Given the description of an element on the screen output the (x, y) to click on. 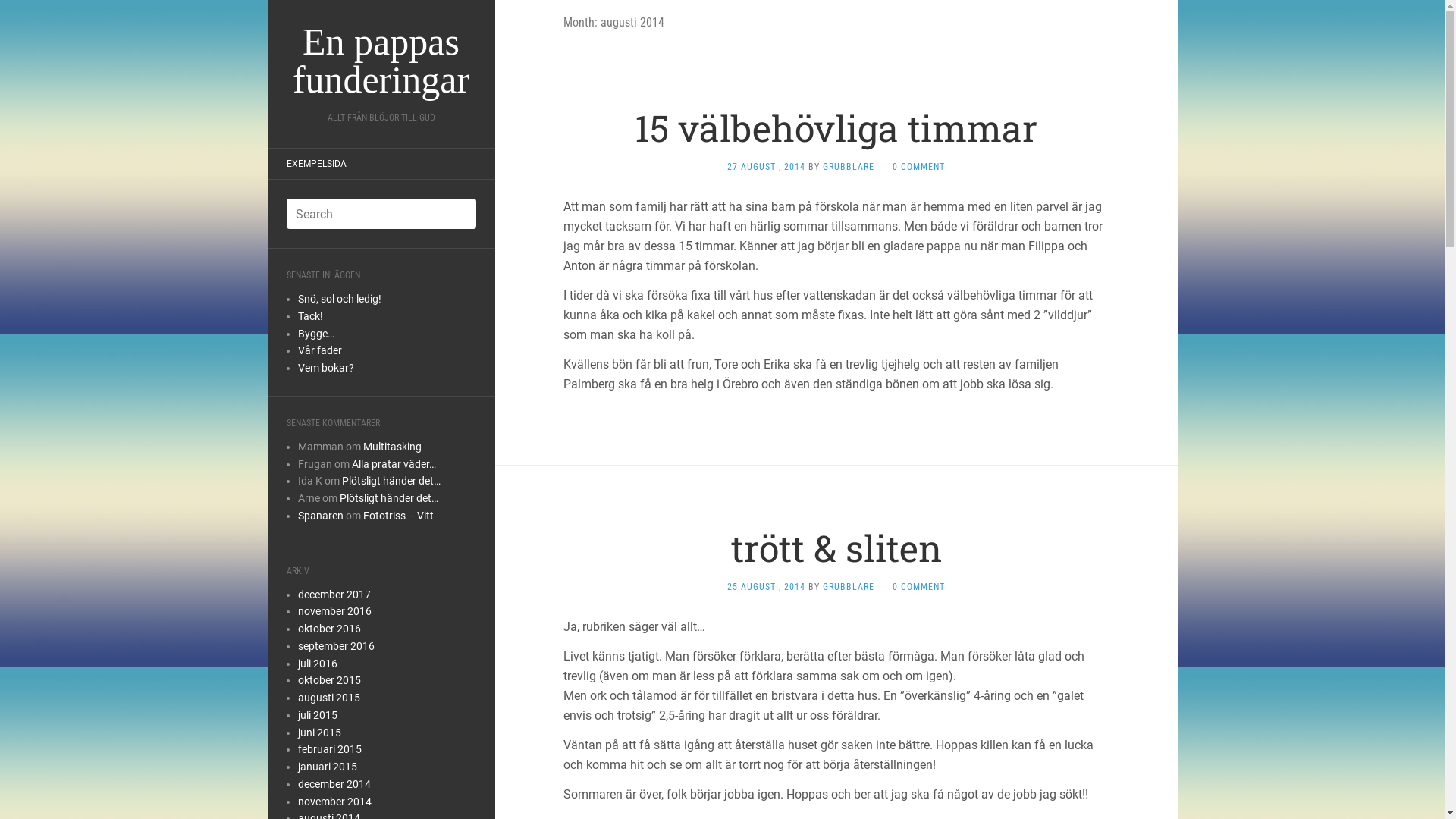
Tack!  Element type: text (310, 316)
augusti 2015 Element type: text (328, 697)
0 COMMENT Element type: text (918, 586)
november 2016 Element type: text (333, 611)
oktober 2016 Element type: text (328, 628)
27 AUGUSTI, 2014 Element type: text (766, 166)
december 2014 Element type: text (333, 784)
GRUBBLARE Element type: text (848, 586)
december 2017 Element type: text (333, 594)
juli 2015 Element type: text (316, 715)
Vem bokar? Element type: text (325, 367)
juli 2016 Element type: text (316, 662)
oktober 2015 Element type: text (328, 680)
juni 2015 Element type: text (318, 732)
25 AUGUSTI, 2014 Element type: text (766, 586)
EXEMPELSIDA Element type: text (315, 163)
januari 2015 Element type: text (326, 766)
Multitasking Element type: text (391, 446)
En pappas funderingar Element type: text (380, 60)
GRUBBLARE Element type: text (848, 166)
september 2016 Element type: text (335, 646)
Spanaren Element type: text (319, 515)
Search Element type: text (22, 10)
november 2014 Element type: text (333, 800)
februari 2015 Element type: text (328, 749)
0 COMMENT Element type: text (918, 166)
